Given the description of an element on the screen output the (x, y) to click on. 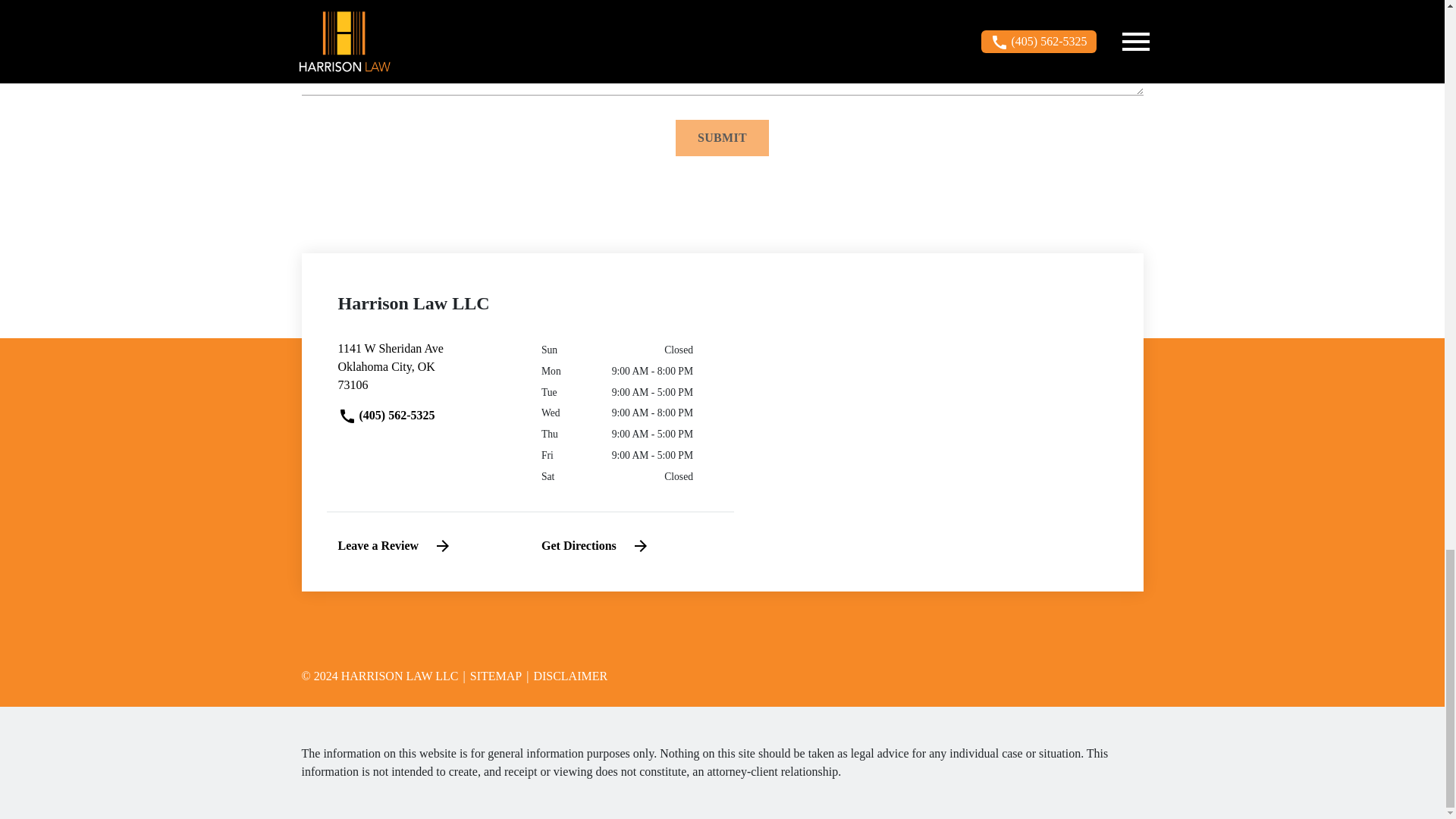
DISCLAIMER (565, 675)
Leave a Review (394, 546)
SUBMIT (721, 137)
SITEMAP (428, 372)
Get Directions (491, 675)
